Given the description of an element on the screen output the (x, y) to click on. 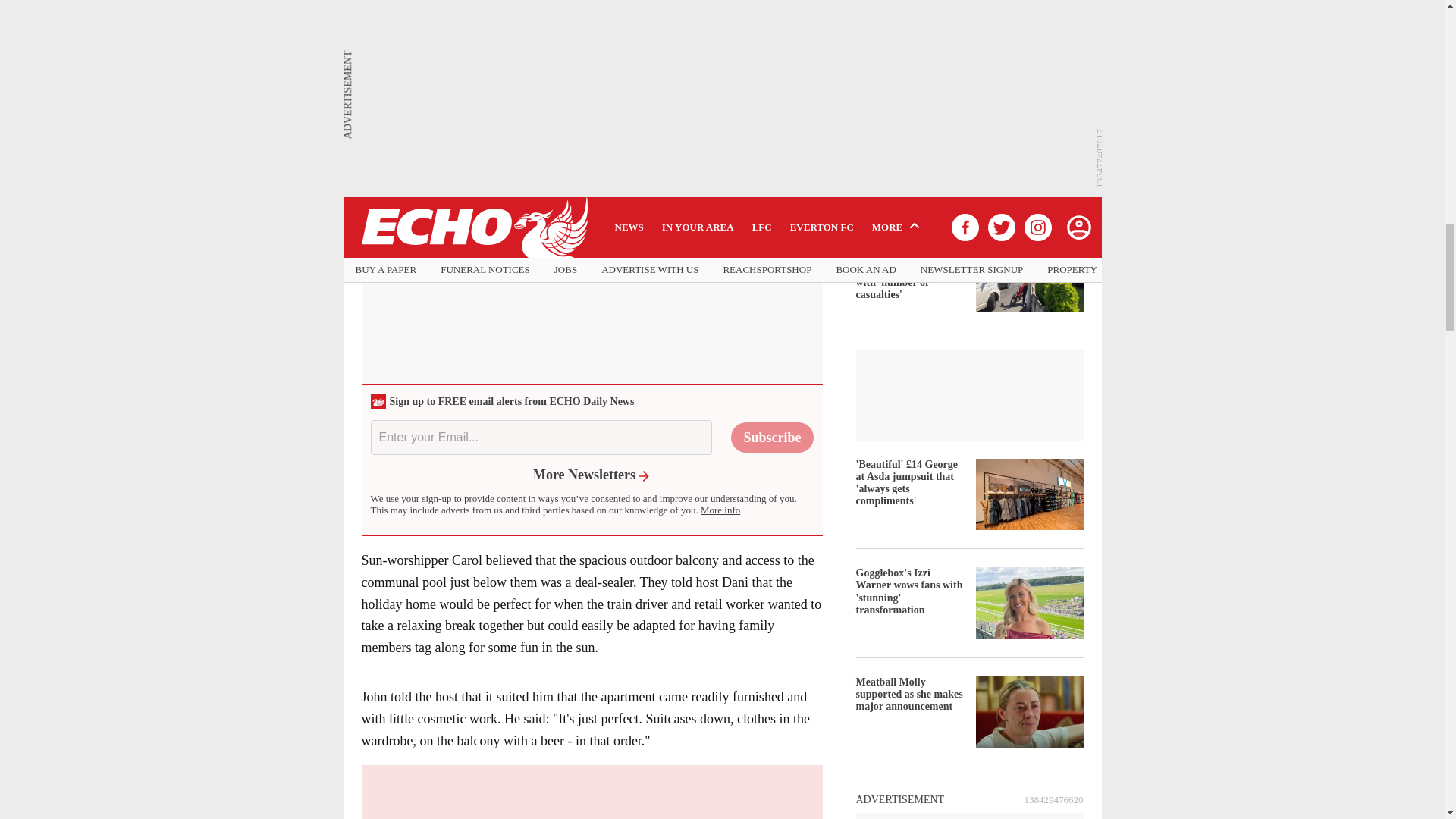
We are looking for Liverpool's cutest dog in our new contest (627, 21)
